Given the description of an element on the screen output the (x, y) to click on. 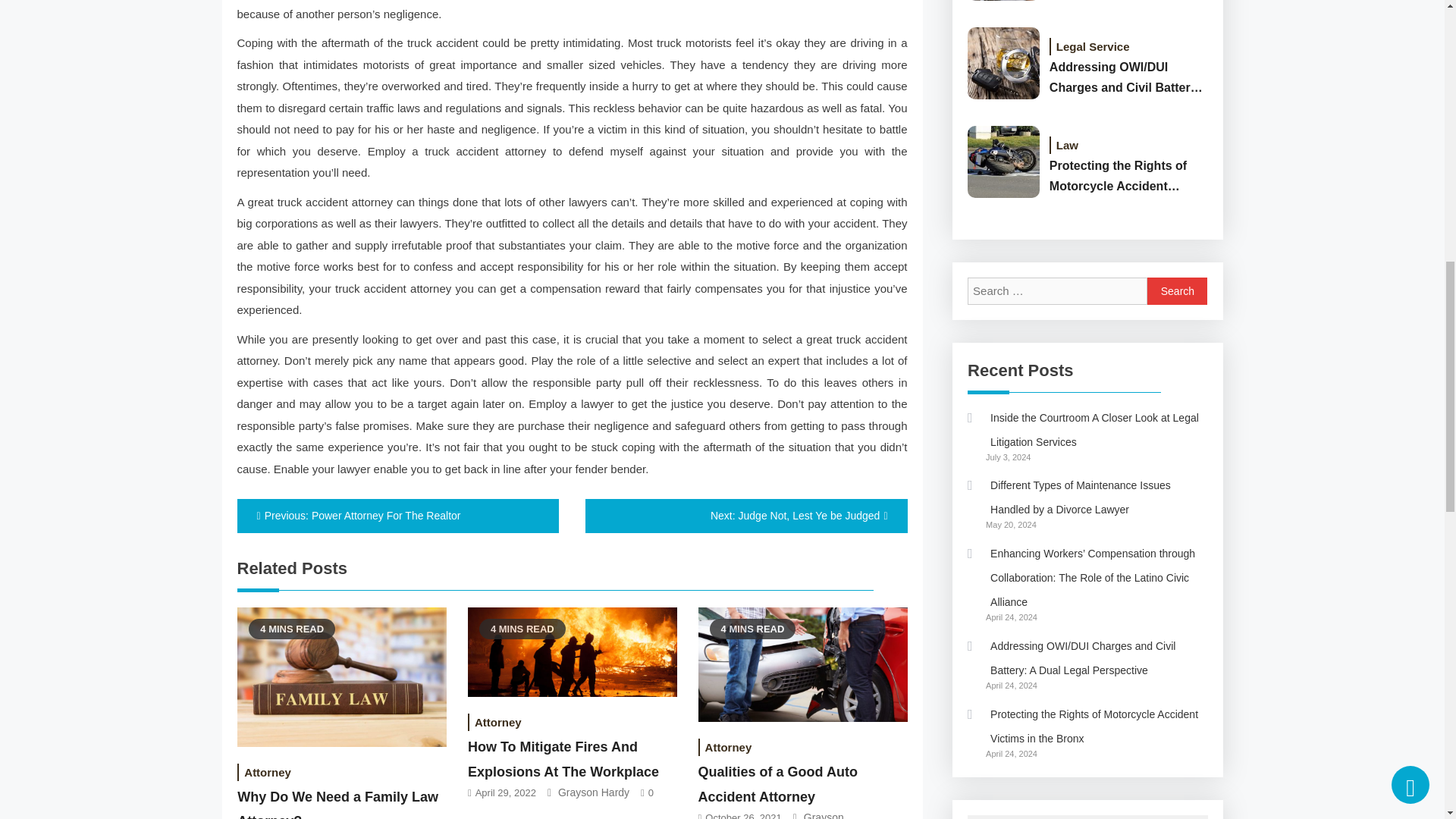
Search (1177, 290)
Next: Judge Not, Lest Ye be Judged (746, 515)
Qualities of a Good Auto Accident Attorney (777, 783)
October 26, 2021 (742, 815)
Previous: Power Attorney For The Realtor (396, 515)
Attorney (267, 772)
Why Do We Need a Family Law Attorney? (337, 804)
Search (1177, 290)
Grayson Hardy (592, 792)
Attorney (497, 722)
Attorney (728, 746)
How To Mitigate Fires And Explosions At The Workplace (563, 758)
April 29, 2022 (505, 792)
